Given the description of an element on the screen output the (x, y) to click on. 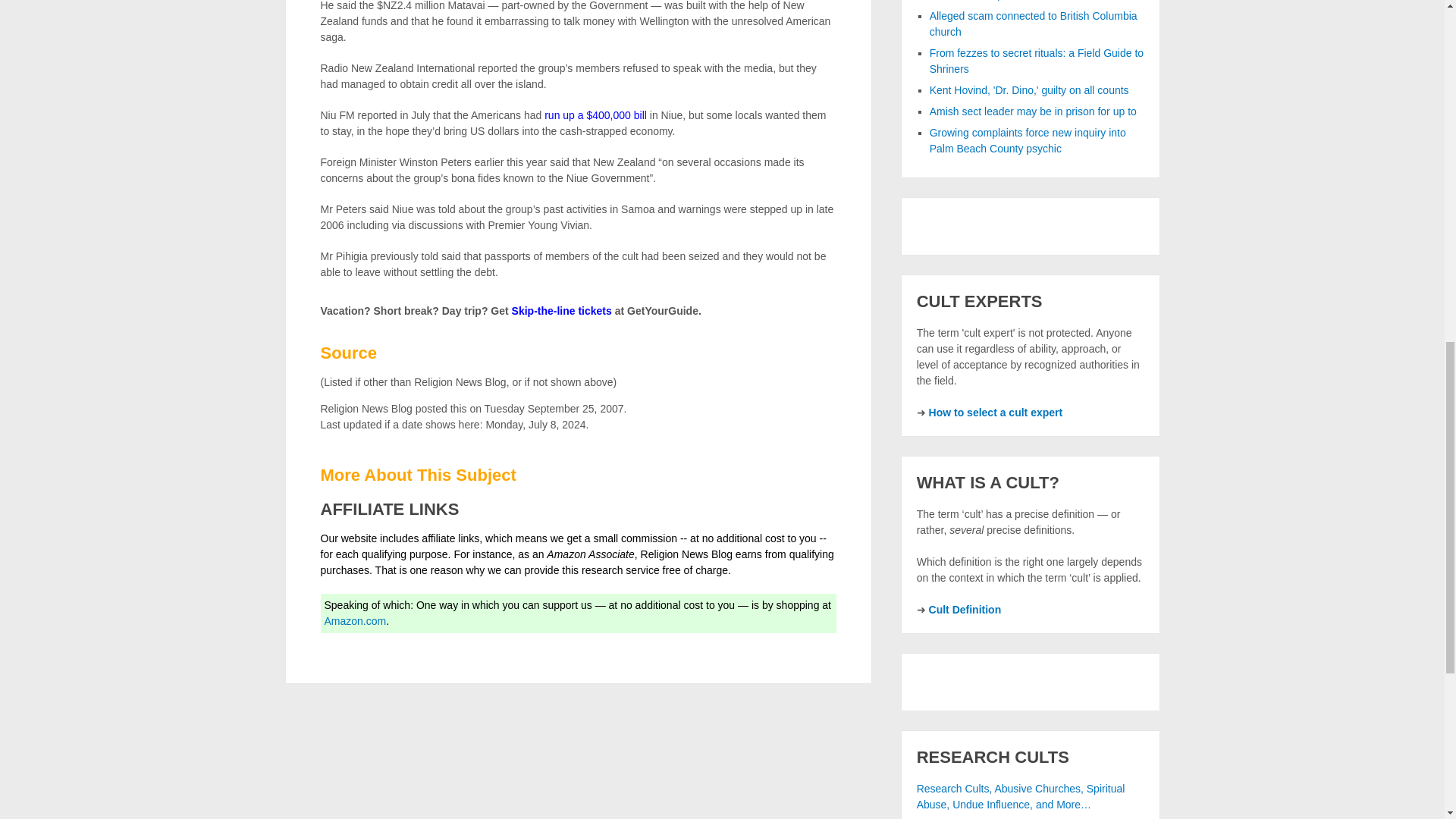
Amazon.com (355, 621)
How to select a cult expert (995, 412)
Skip-the-line tickets (561, 310)
From fezzes to secret rituals: a Field Guide to Shriners (1036, 60)
Kent Hovind, 'Dr. Dino,' guilty on all counts (1029, 90)
Alleged scam connected to British Columbia church (1033, 23)
Cult Definition (964, 609)
Amish sect leader may be in prison for up to (1033, 111)
